Given the description of an element on the screen output the (x, y) to click on. 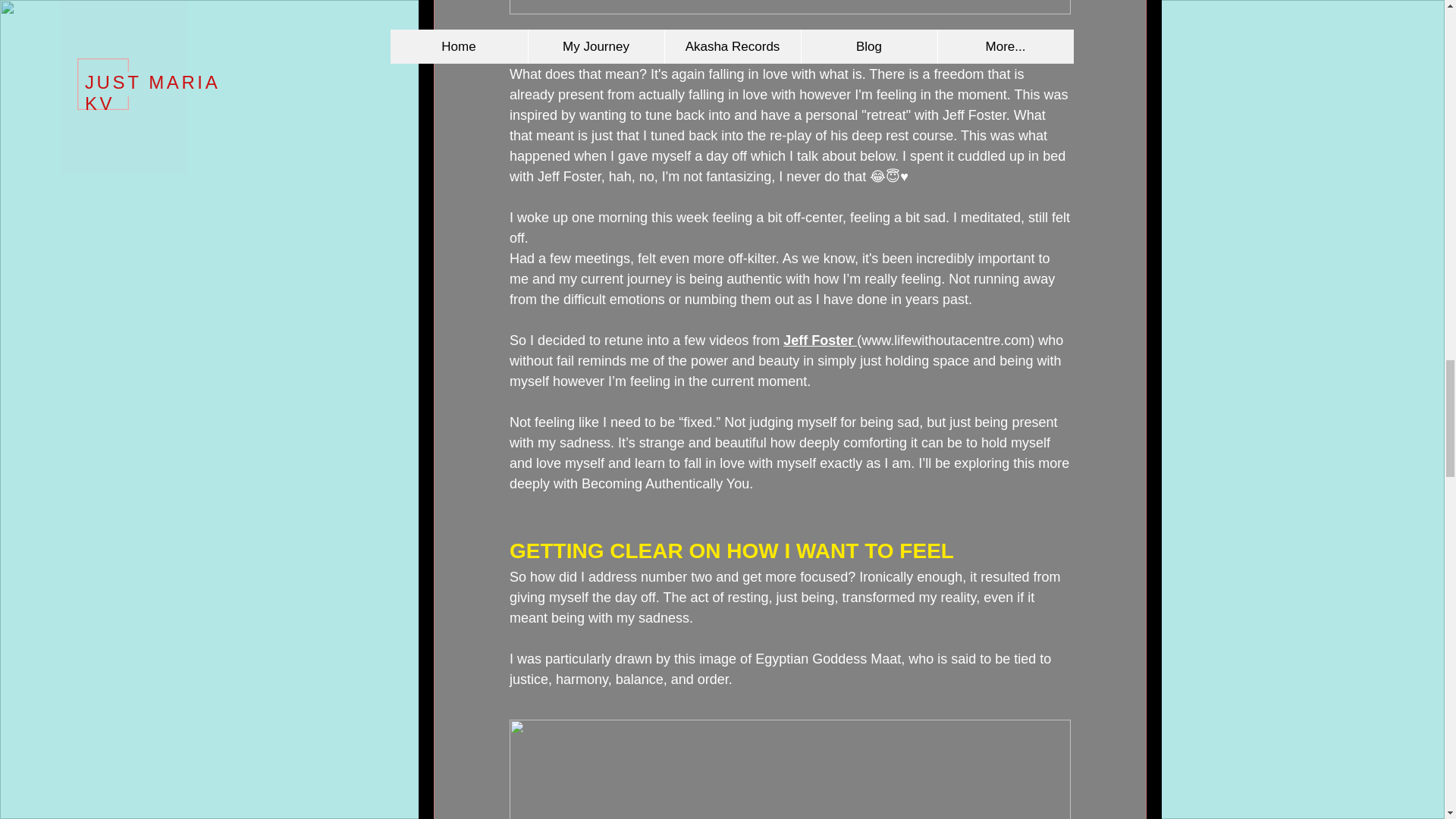
Jeff Foster  (820, 339)
